Given the description of an element on the screen output the (x, y) to click on. 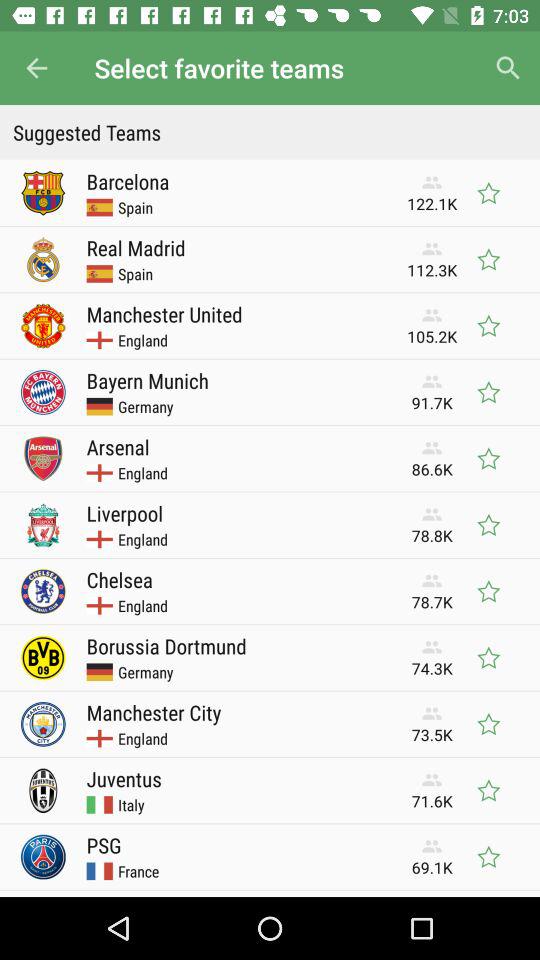
launch the real madrid icon (135, 247)
